Given the description of an element on the screen output the (x, y) to click on. 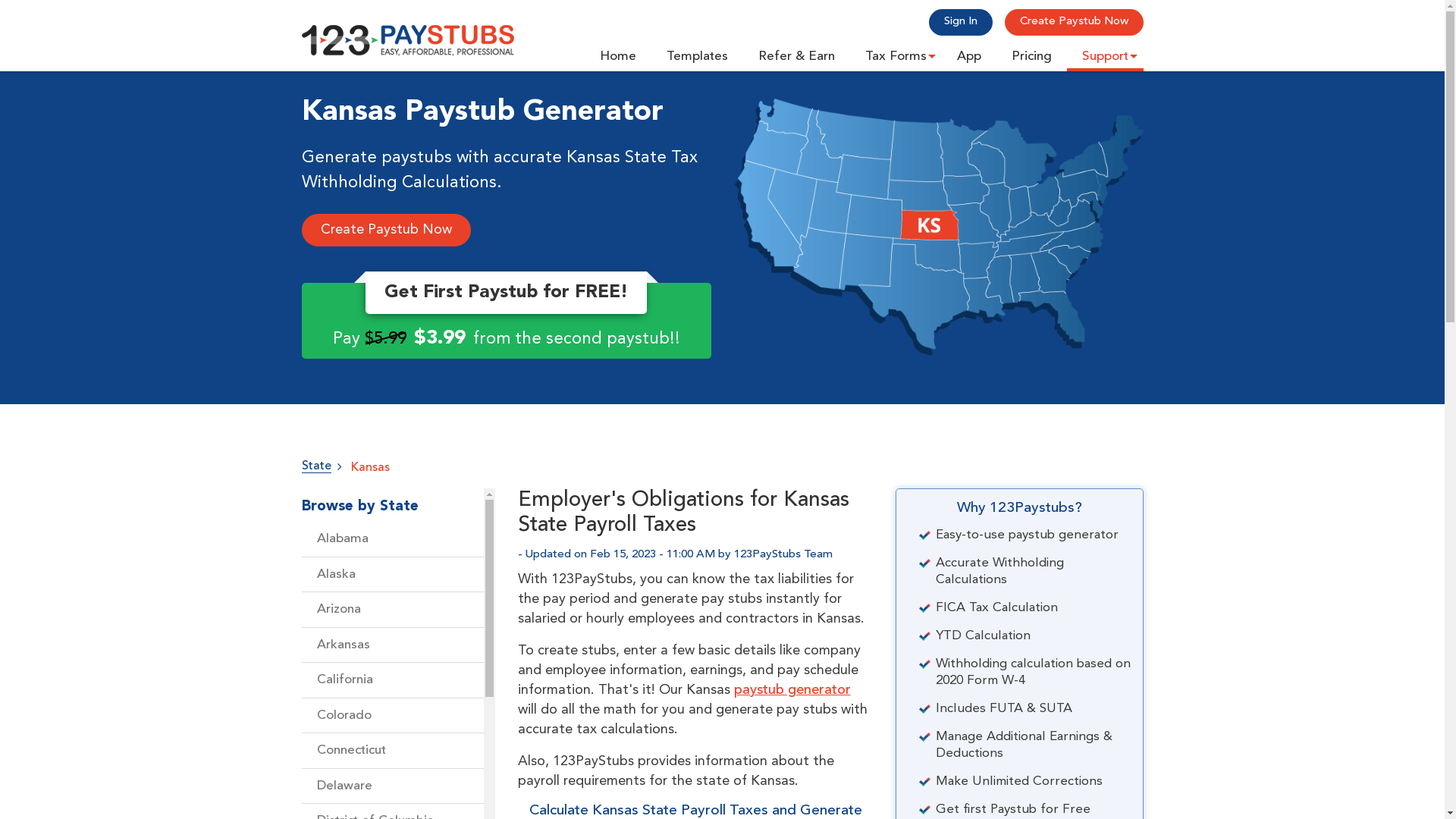
App Element type: text (968, 51)
Colorado Element type: text (392, 716)
State Element type: text (316, 466)
Arizona Element type: text (392, 609)
Tax Forms Element type: text (895, 51)
Pricing Element type: text (1031, 51)
paystub generator Element type: text (792, 689)
California Element type: text (392, 680)
Connecticut Element type: text (392, 750)
Sign In Element type: text (959, 22)
Templates Element type: text (696, 51)
Support Element type: text (1104, 51)
Refer & Earn Element type: text (796, 51)
Arkansas Element type: text (392, 645)
Alaska Element type: text (392, 575)
Kansas Element type: text (369, 467)
Create Paystub Now Element type: text (385, 229)
Delaware Element type: text (392, 786)
Create Paystub Now Element type: text (1073, 22)
Home Element type: text (616, 51)
Alabama Element type: text (392, 539)
